Given the description of an element on the screen output the (x, y) to click on. 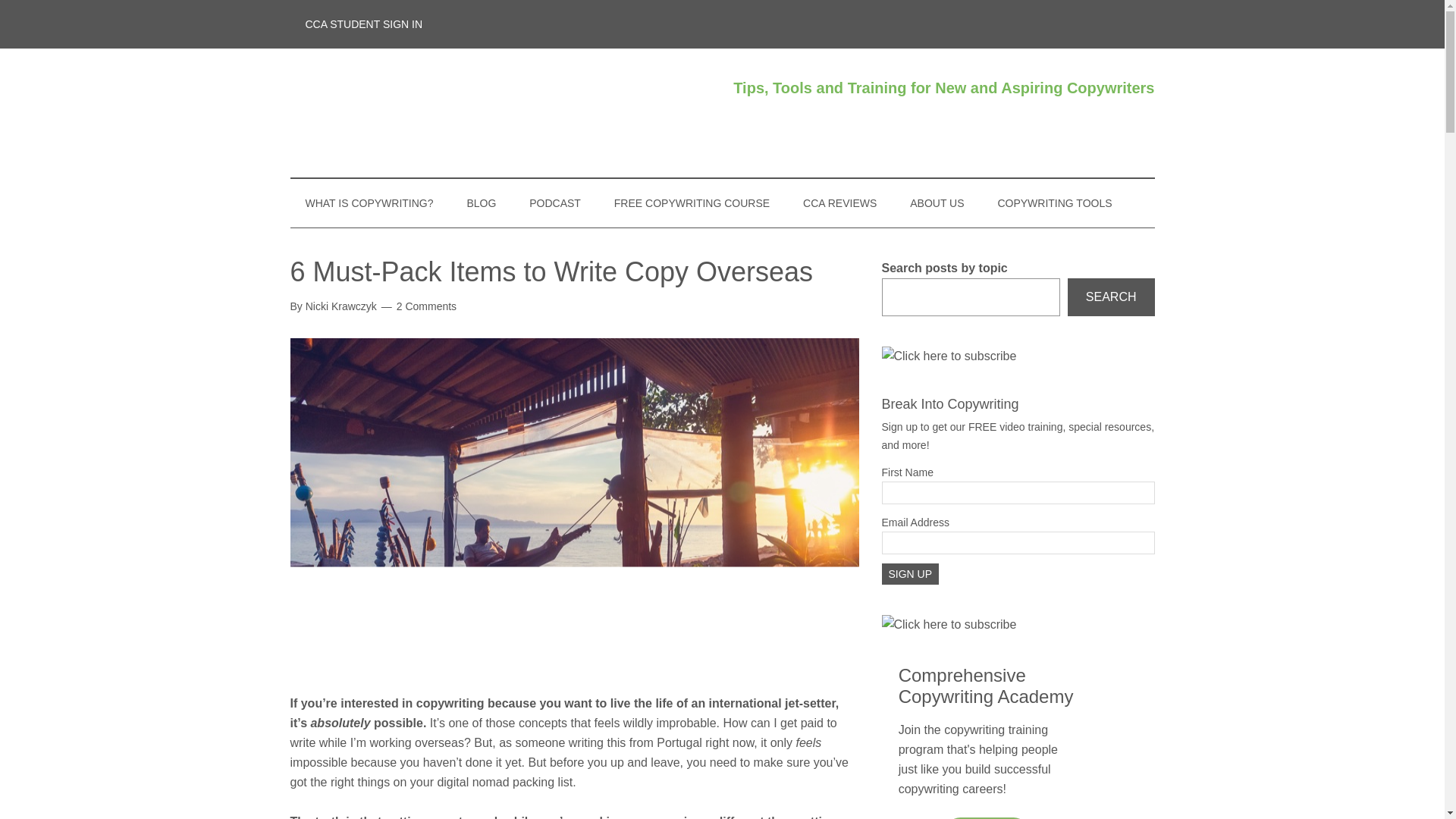
CCA REVIEWS (839, 203)
FREE COPYWRITING COURSE (691, 203)
Sign Up (909, 573)
2 Comments (426, 306)
COPYWRITING TOOLS (1053, 203)
BLOG (481, 203)
Nicki Krawczyk (341, 306)
WHAT IS COPYWRITING? (368, 203)
PODCAST (554, 203)
Filthy Rich Writer (433, 112)
ABOUT US (936, 203)
CCA STUDENT SIGN IN (363, 24)
